Given the description of an element on the screen output the (x, y) to click on. 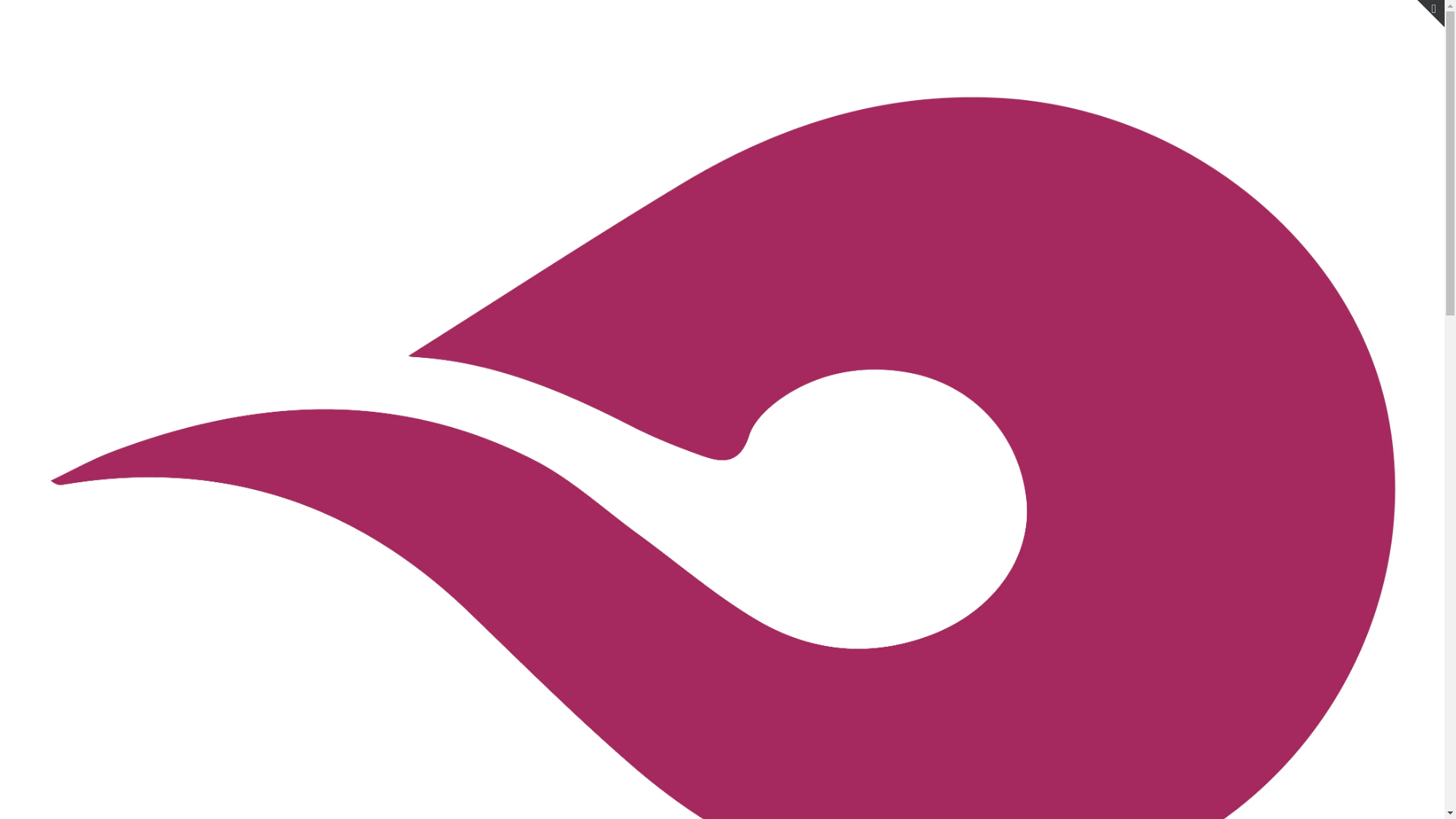
Toggle Sliding Bar Area Element type: text (1430, 13)
